Given the description of an element on the screen output the (x, y) to click on. 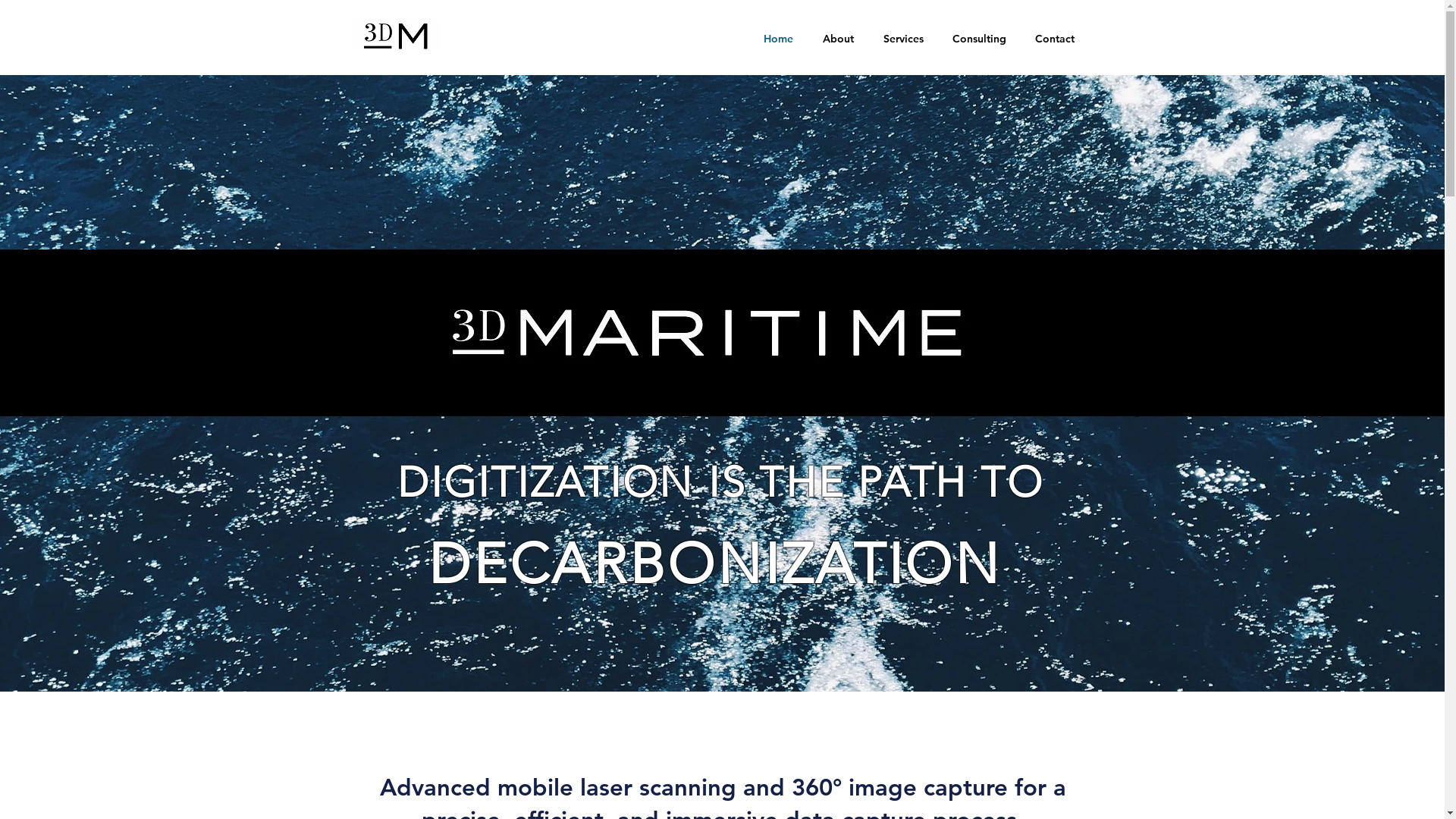
Home Element type: text (778, 38)
Services Element type: text (903, 38)
Contact Element type: text (1054, 38)
About Element type: text (838, 38)
TWIPLA (Visitor Analytics) Element type: hover (1442, 4)
Consulting Element type: text (978, 38)
